Given the description of an element on the screen output the (x, y) to click on. 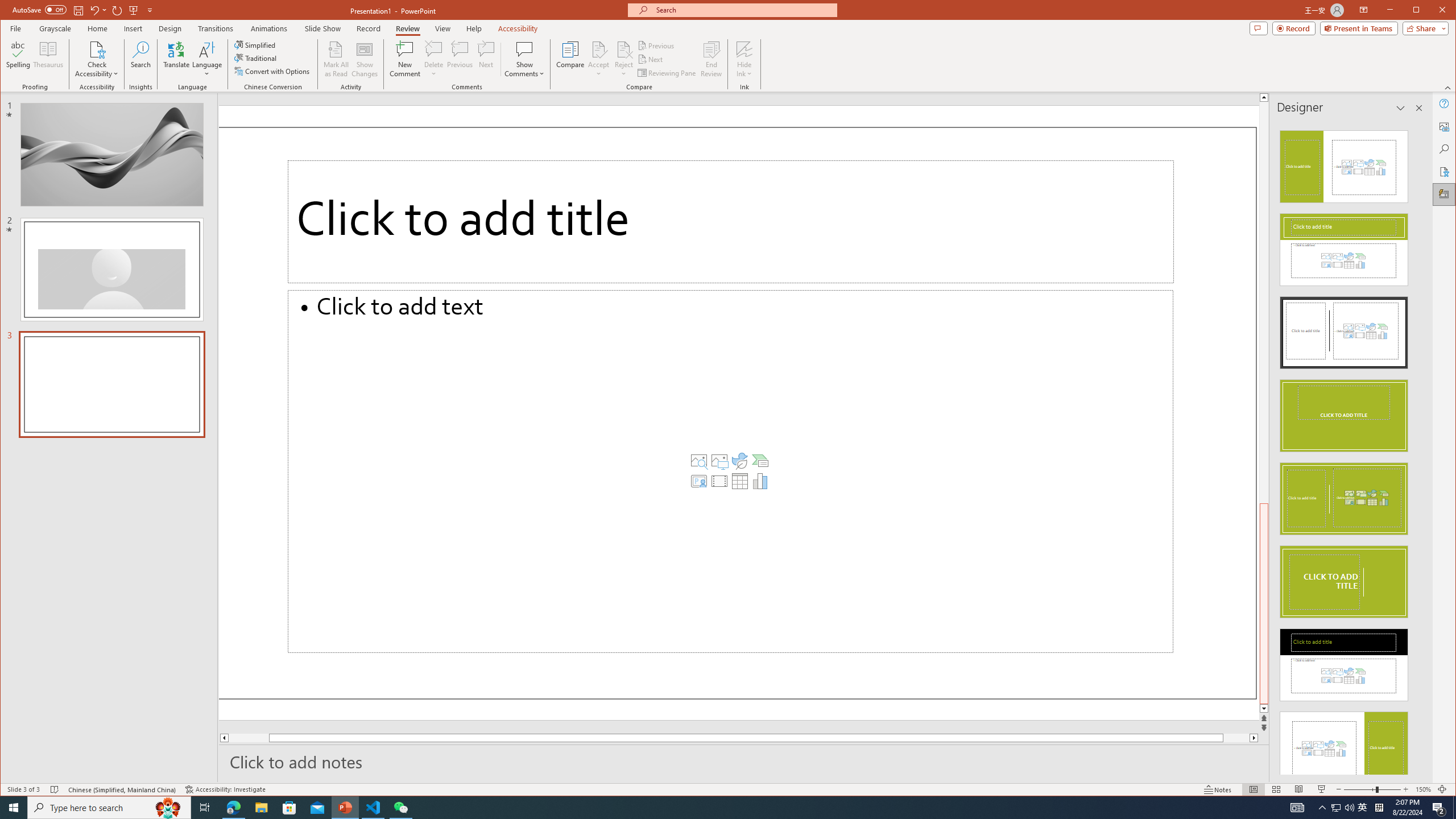
Stock Images (698, 460)
Next (651, 59)
Reviewing Pane (667, 72)
Language (207, 59)
Mark All as Read (335, 59)
